Given the description of an element on the screen output the (x, y) to click on. 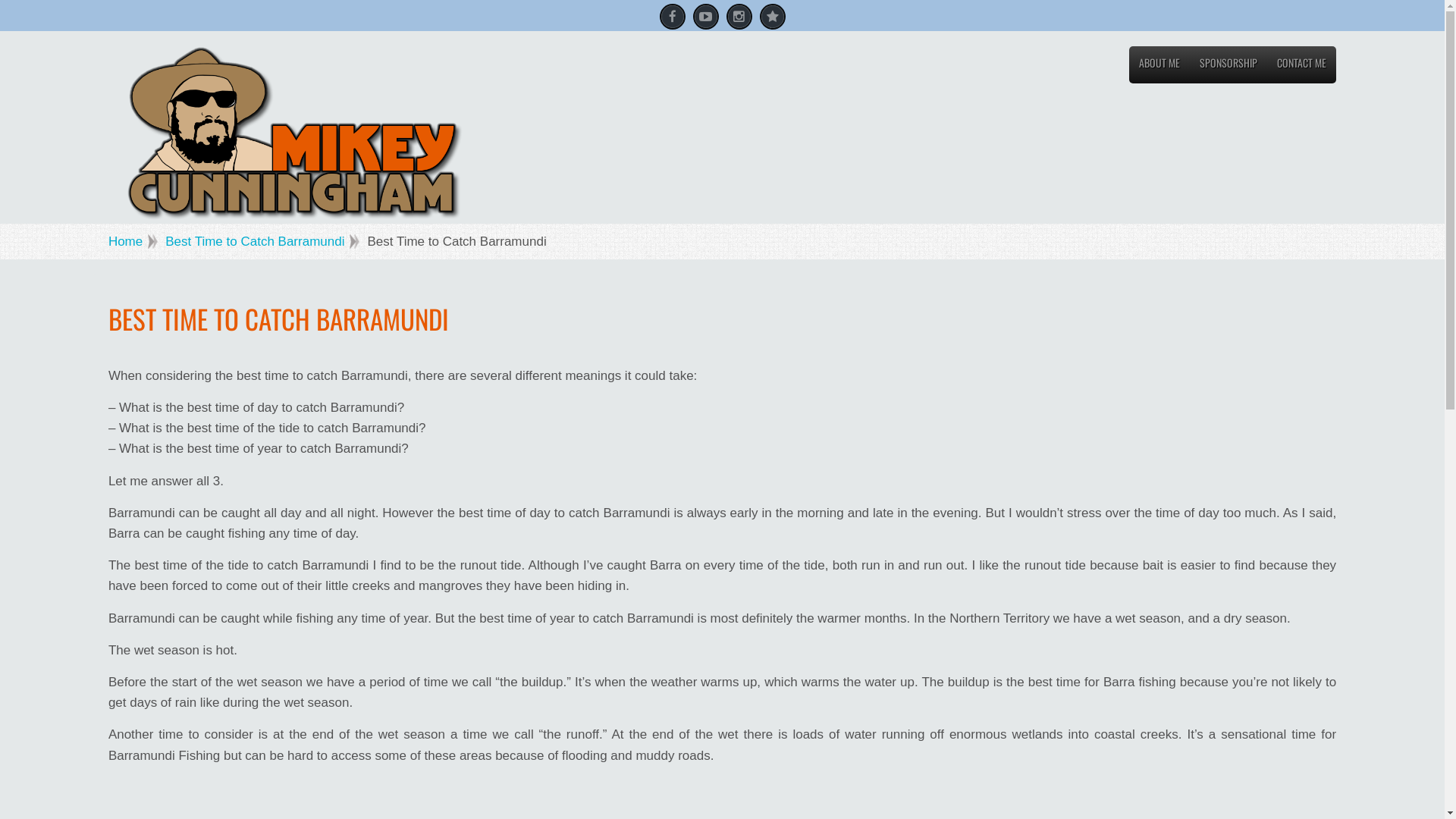
Best Time to Catch Barramundi Element type: text (262, 241)
Home Element type: text (132, 241)
SPONSORSHIP Element type: text (1228, 66)
ABOUT ME Element type: text (1159, 66)
CONTACT ME Element type: text (1301, 66)
